Given the description of an element on the screen output the (x, y) to click on. 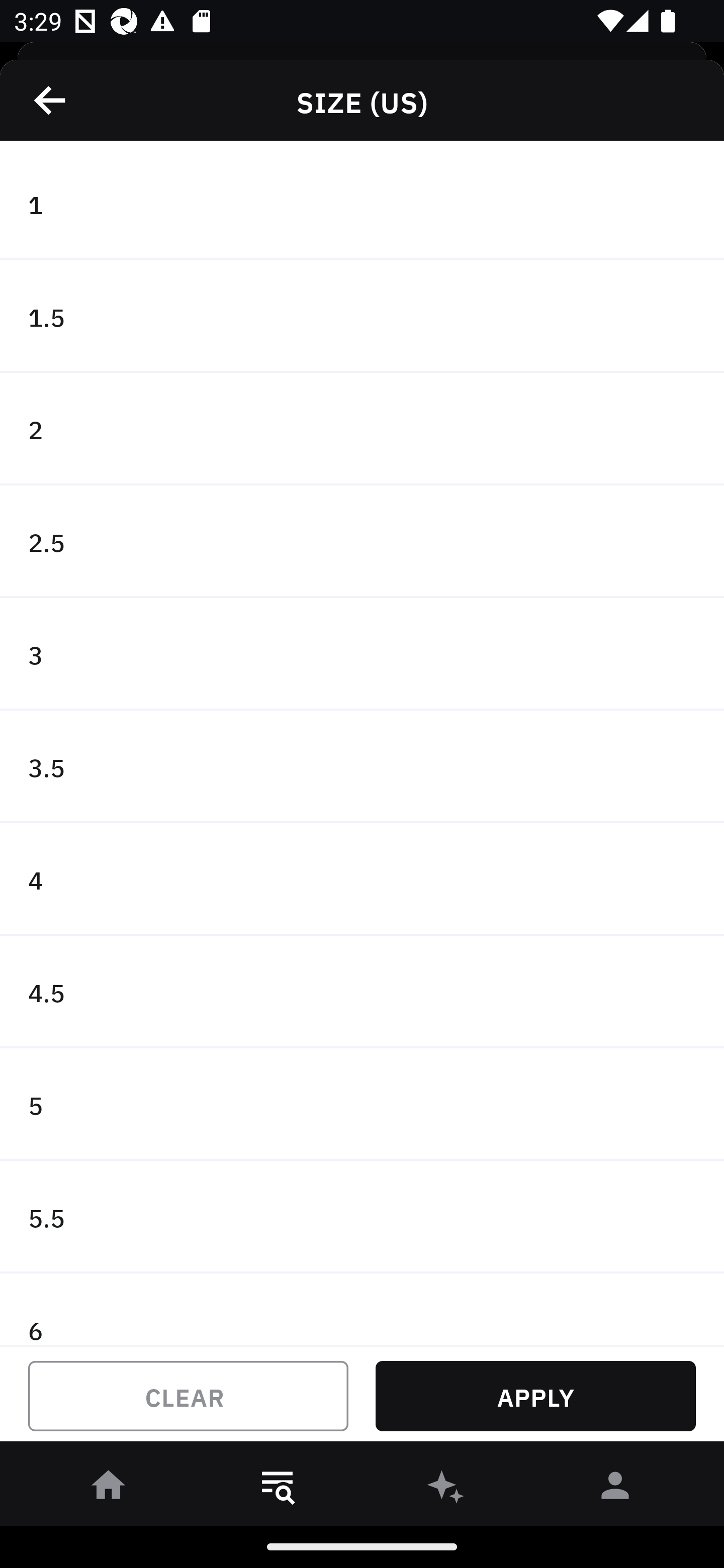
 (50, 100)
1 (362, 203)
1.5 (362, 316)
2 (362, 429)
2.5 (362, 541)
3 (362, 653)
3.5 (362, 766)
4 (362, 879)
4.5 (362, 992)
5 (362, 1104)
5.5 (362, 1216)
6 (362, 1309)
CLEAR  (188, 1396)
APPLY (535, 1396)
󰋜 (108, 1488)
󱎸 (277, 1488)
󰫢 (446, 1488)
󰀄 (615, 1488)
